Given the description of an element on the screen output the (x, y) to click on. 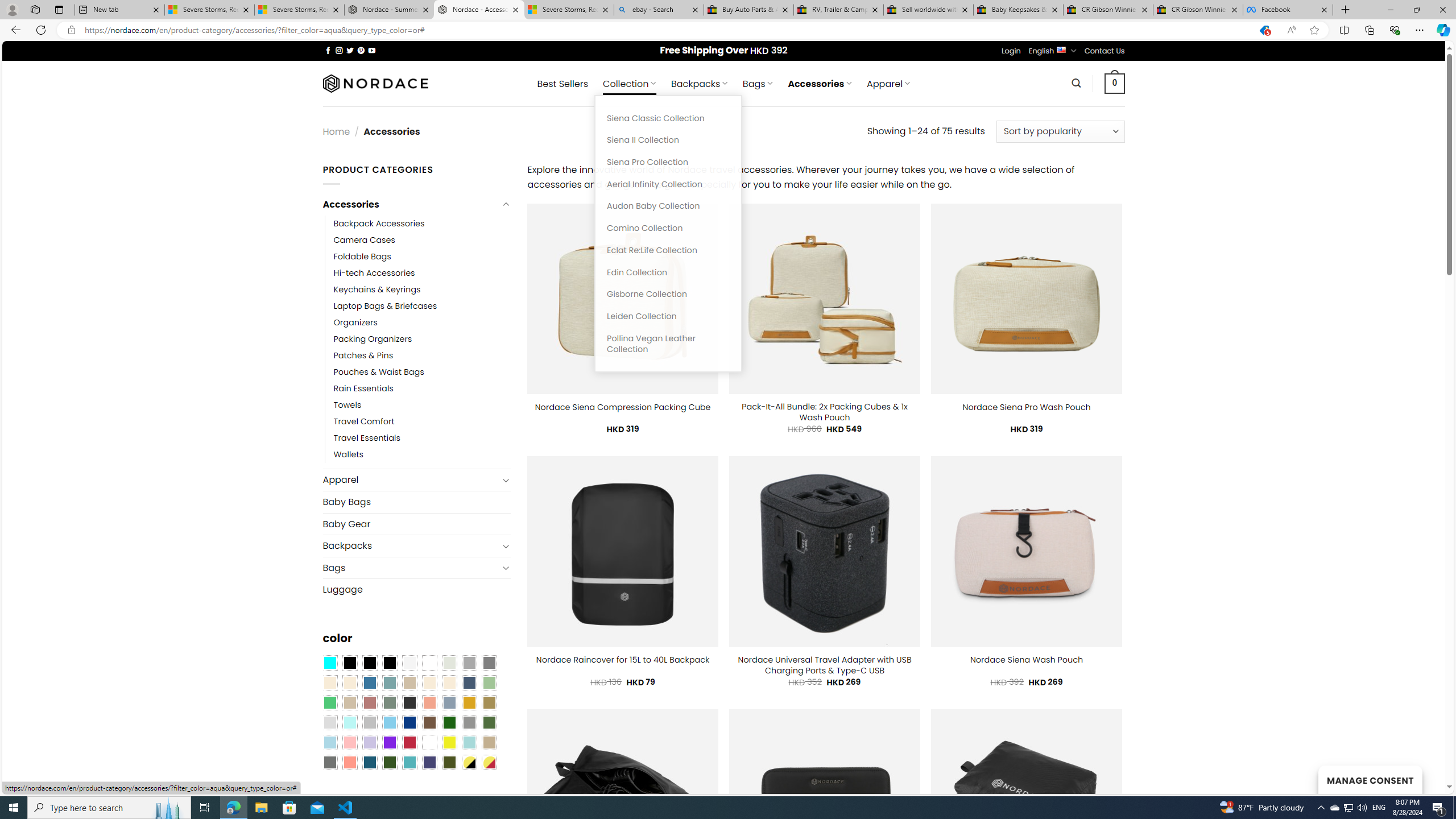
Ash Gray (449, 662)
Baby Gear (416, 523)
Backpacks (410, 545)
Light Purple (369, 741)
Leiden Collection (668, 316)
Rain Essentials (363, 388)
Gold (468, 702)
Brown (429, 721)
Travel Essentials (366, 438)
Leiden Collection (668, 316)
Peach Pink (349, 762)
